Given the description of an element on the screen output the (x, y) to click on. 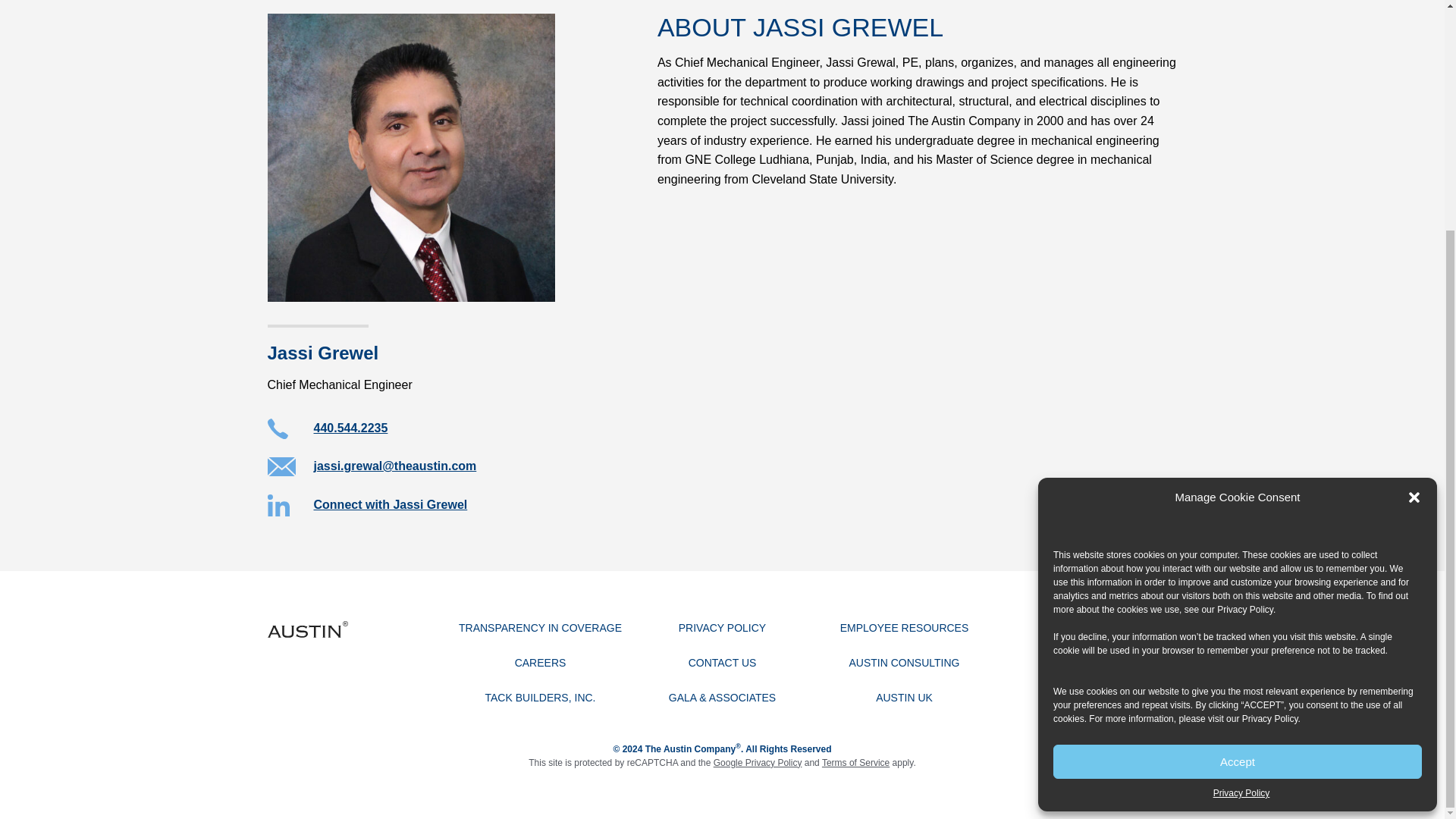
Accept (1237, 449)
Privacy Policy (1240, 481)
Privacy Policy (1244, 297)
